Given the description of an element on the screen output the (x, y) to click on. 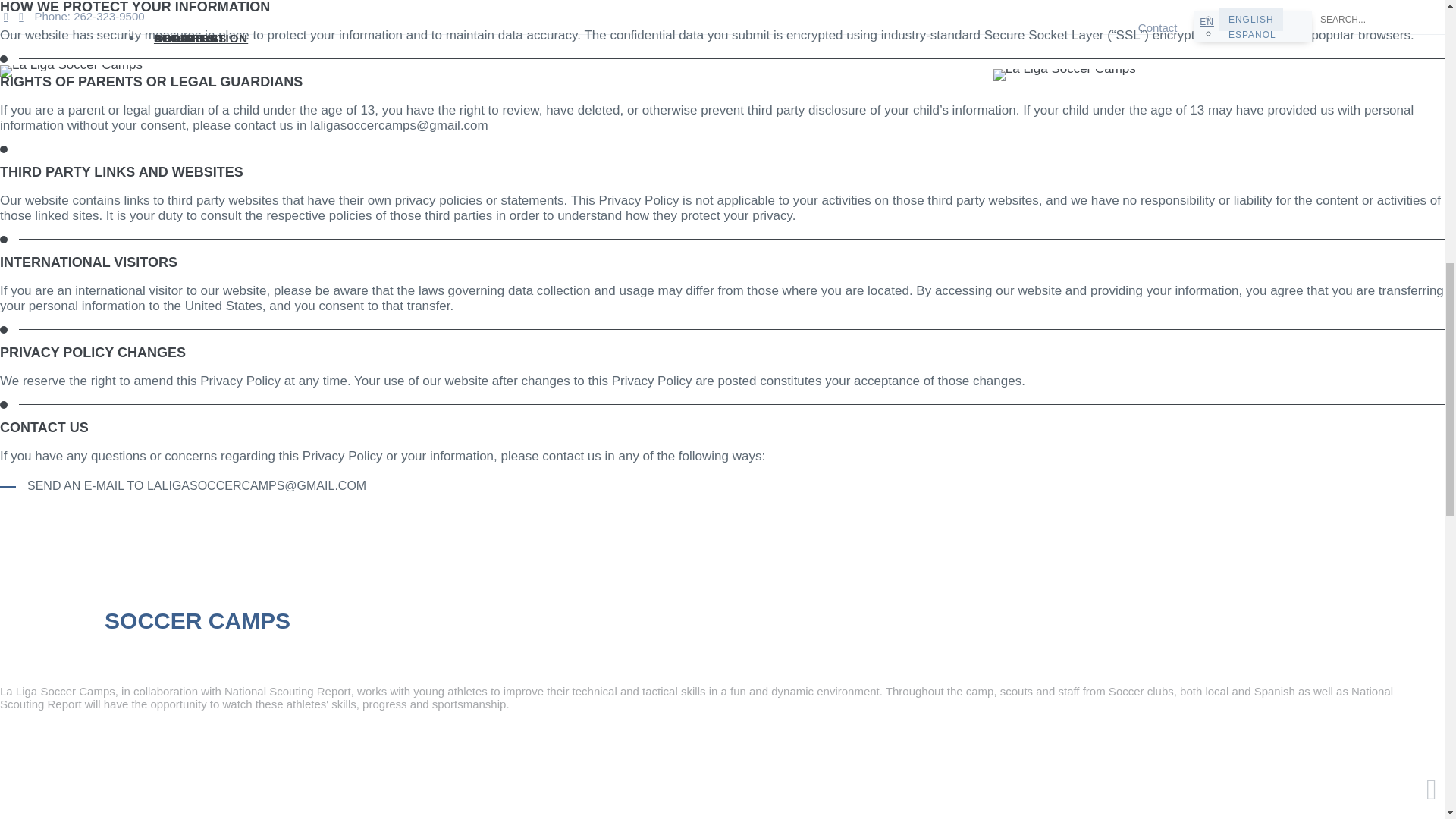
STAGES (391, 764)
REGISTRATION (490, 764)
COACHES (137, 764)
ABOUT US (44, 764)
LOCATIONS (233, 764)
BLOG (316, 764)
